Given the description of an element on the screen output the (x, y) to click on. 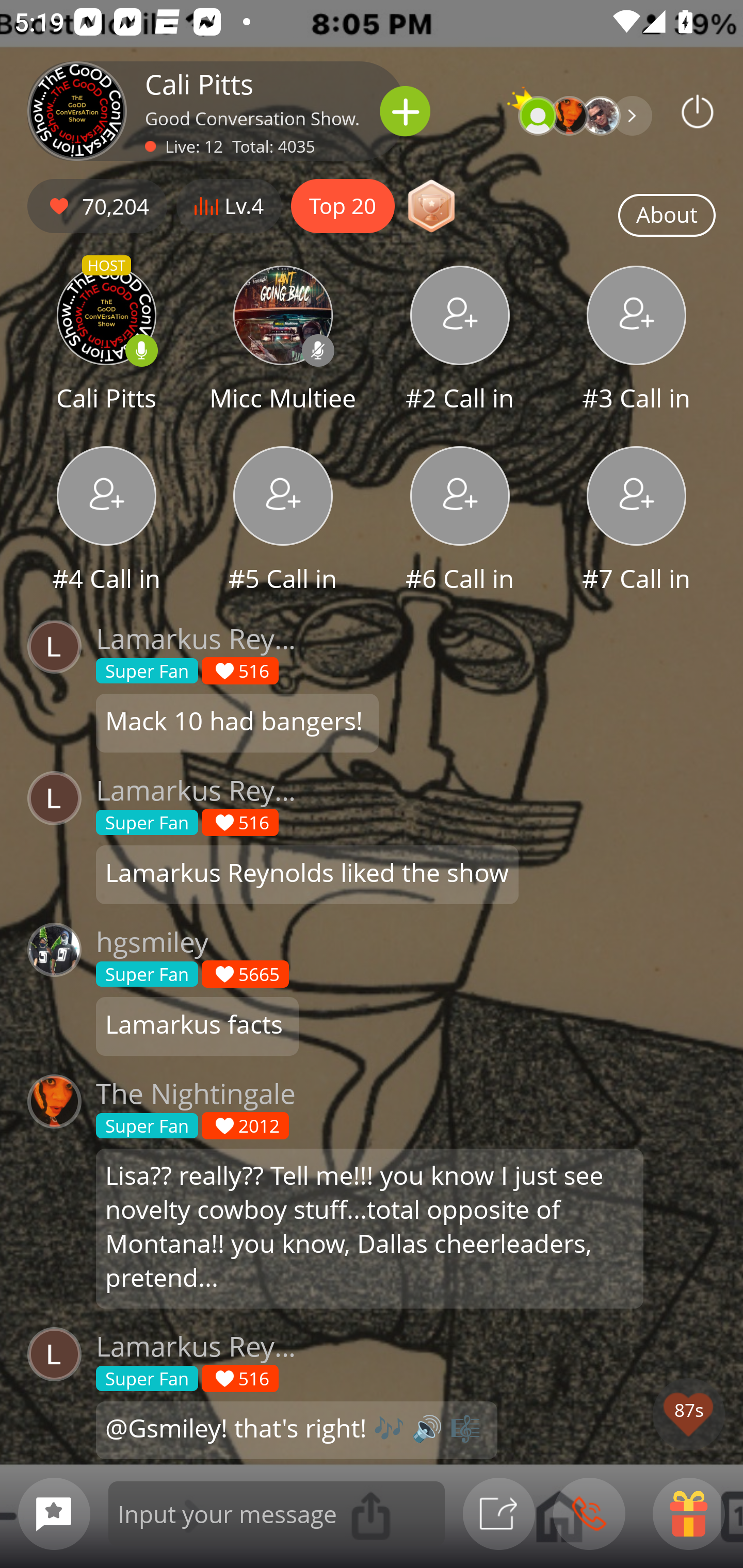
Podbean (697, 111)
About (666, 215)
HOST Cali Pitts (105, 340)
Micc Multiee (282, 340)
#2 Call in (459, 340)
#3 Call in (636, 340)
#4 Call in (105, 521)
#5 Call in (282, 521)
#6 Call in (459, 521)
#7 Call in (636, 521)
Input your message (276, 1513)
